Given the description of an element on the screen output the (x, y) to click on. 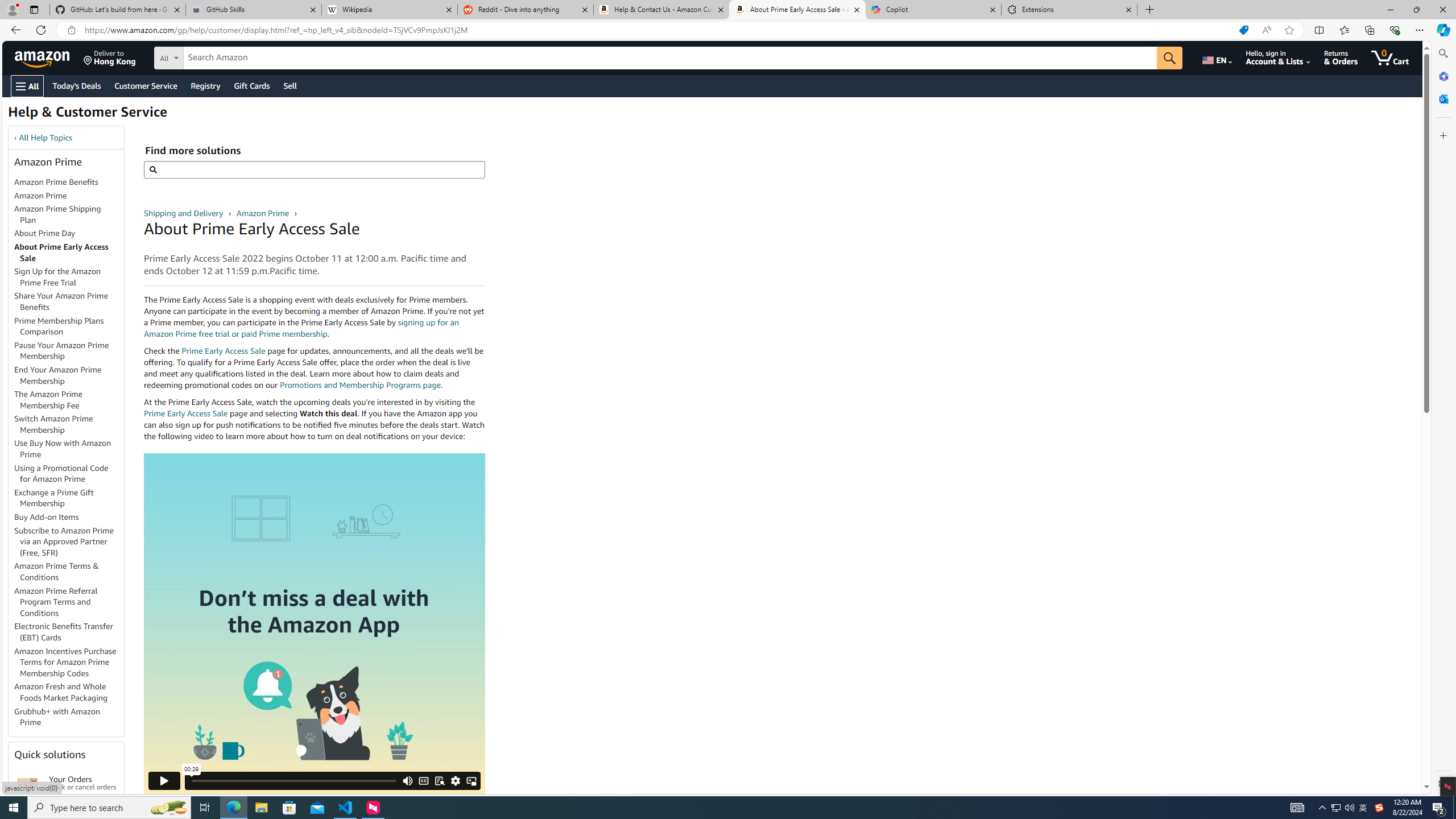
Class: PrefsButton_module_gearIcon__39297261 (455, 780)
Use Buy Now with Amazon Prime (68, 449)
Wikipedia (390, 9)
Deliver to Hong Kong (109, 57)
Go (1169, 57)
Search in (210, 56)
Amazon (43, 57)
Switch Amazon Prime Membership (68, 424)
Amazon Prime  (263, 213)
Mute (407, 780)
